Given the description of an element on the screen output the (x, y) to click on. 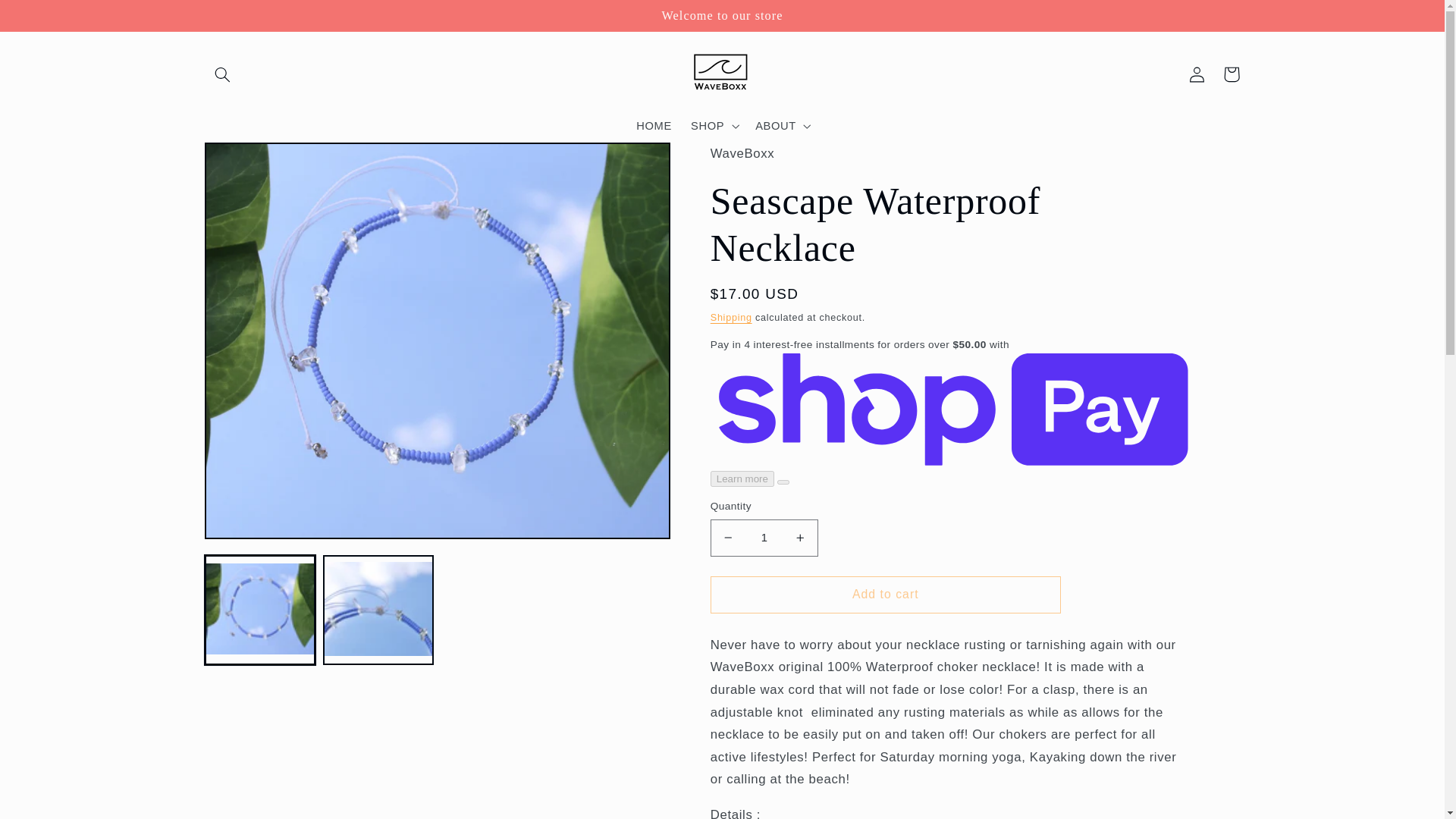
1 (764, 537)
Skip to content (48, 18)
HOME (654, 125)
